Given the description of an element on the screen output the (x, y) to click on. 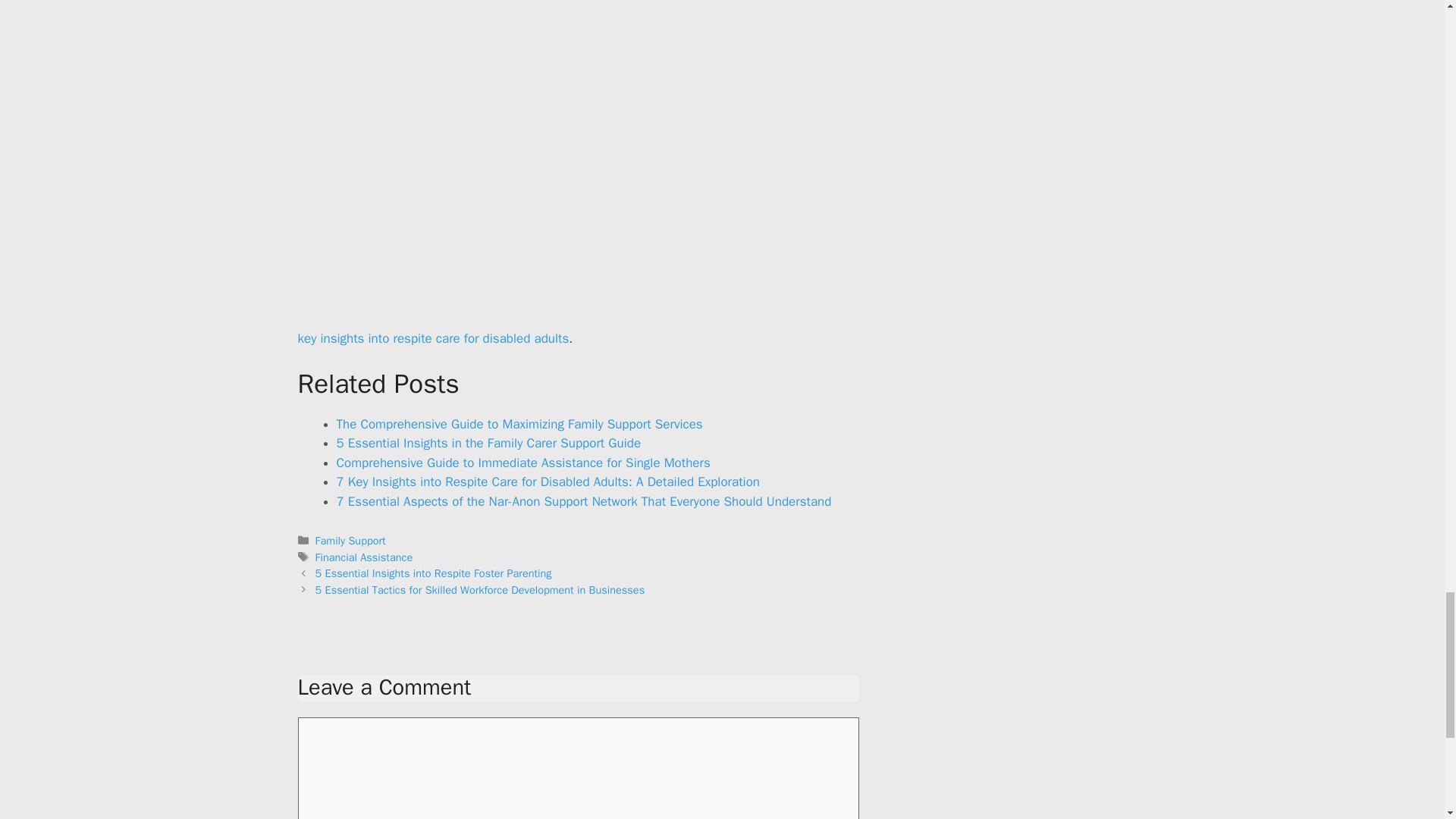
5 Essential Insights in the Family Carer Support Guide (489, 442)
Family Support (350, 540)
5 Essential Insights into Respite Foster Parenting (433, 572)
key insights into respite care for disabled adults (433, 338)
Financial Assistance (364, 557)
